Given the description of an element on the screen output the (x, y) to click on. 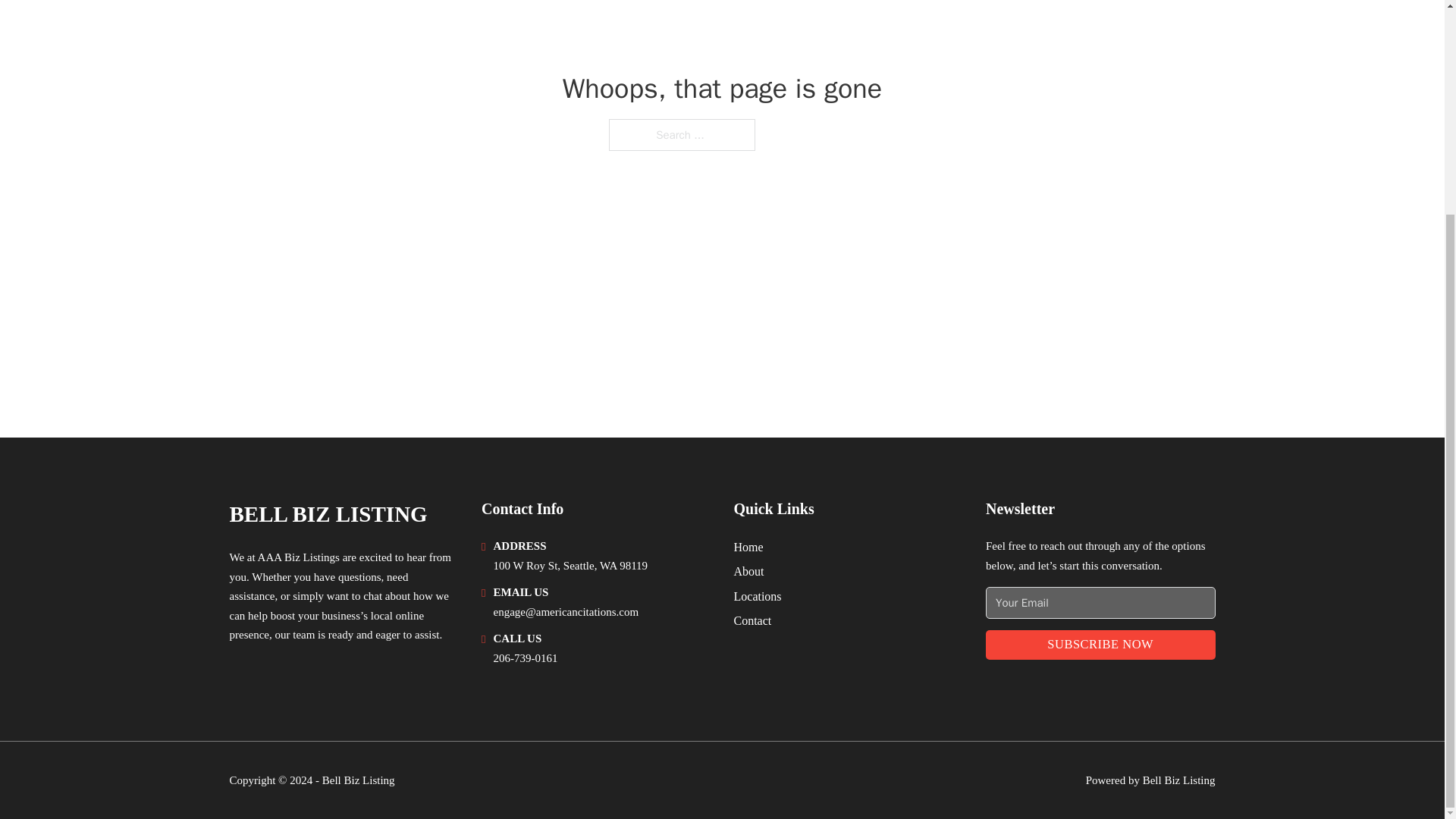
Home (747, 547)
Contact (752, 620)
SUBSCRIBE NOW (1100, 644)
206-739-0161 (525, 657)
Locations (757, 596)
BELL BIZ LISTING (327, 514)
About (748, 571)
